Given the description of an element on the screen output the (x, y) to click on. 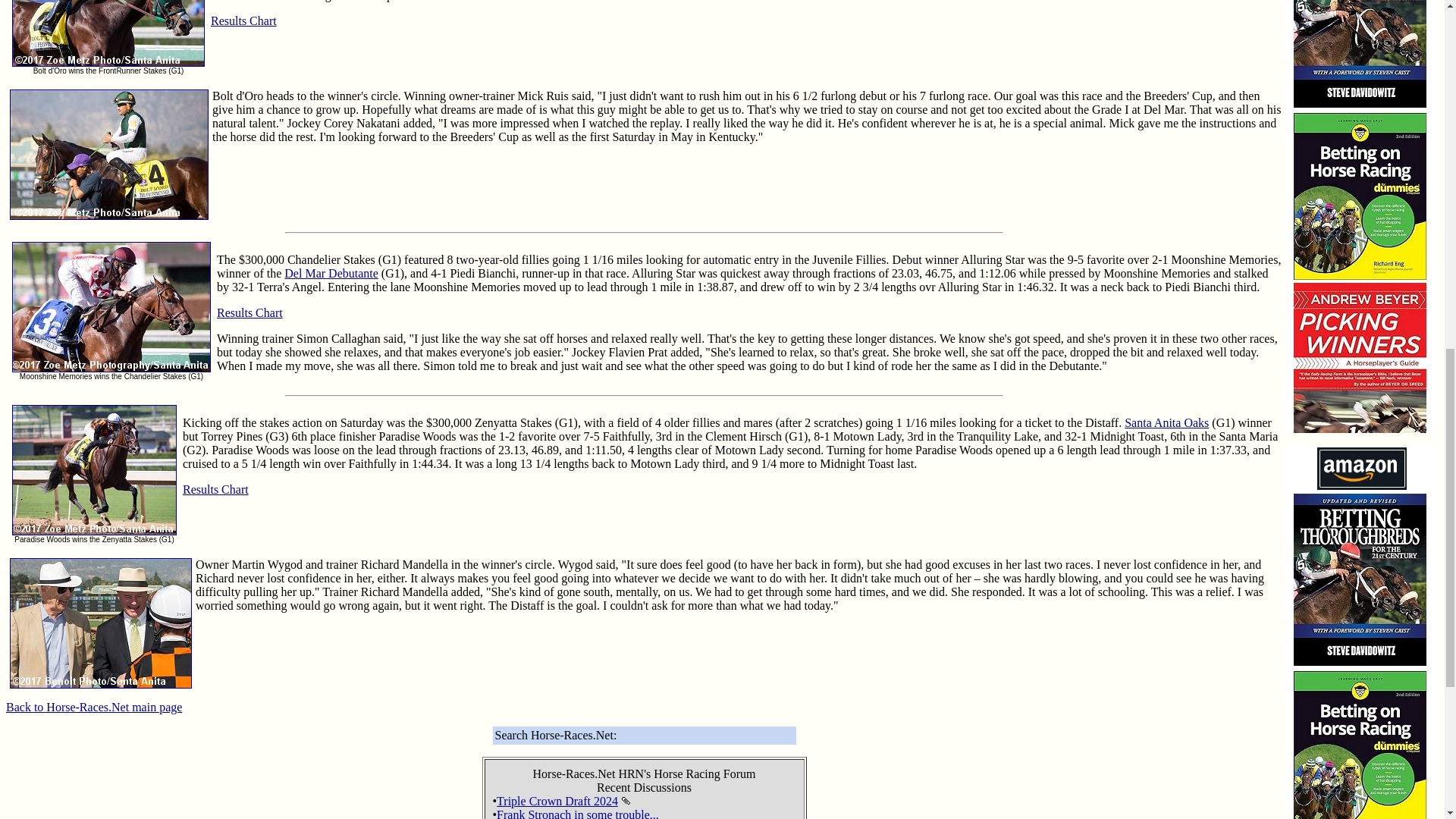
Results Chart (243, 20)
